Given the description of an element on the screen output the (x, y) to click on. 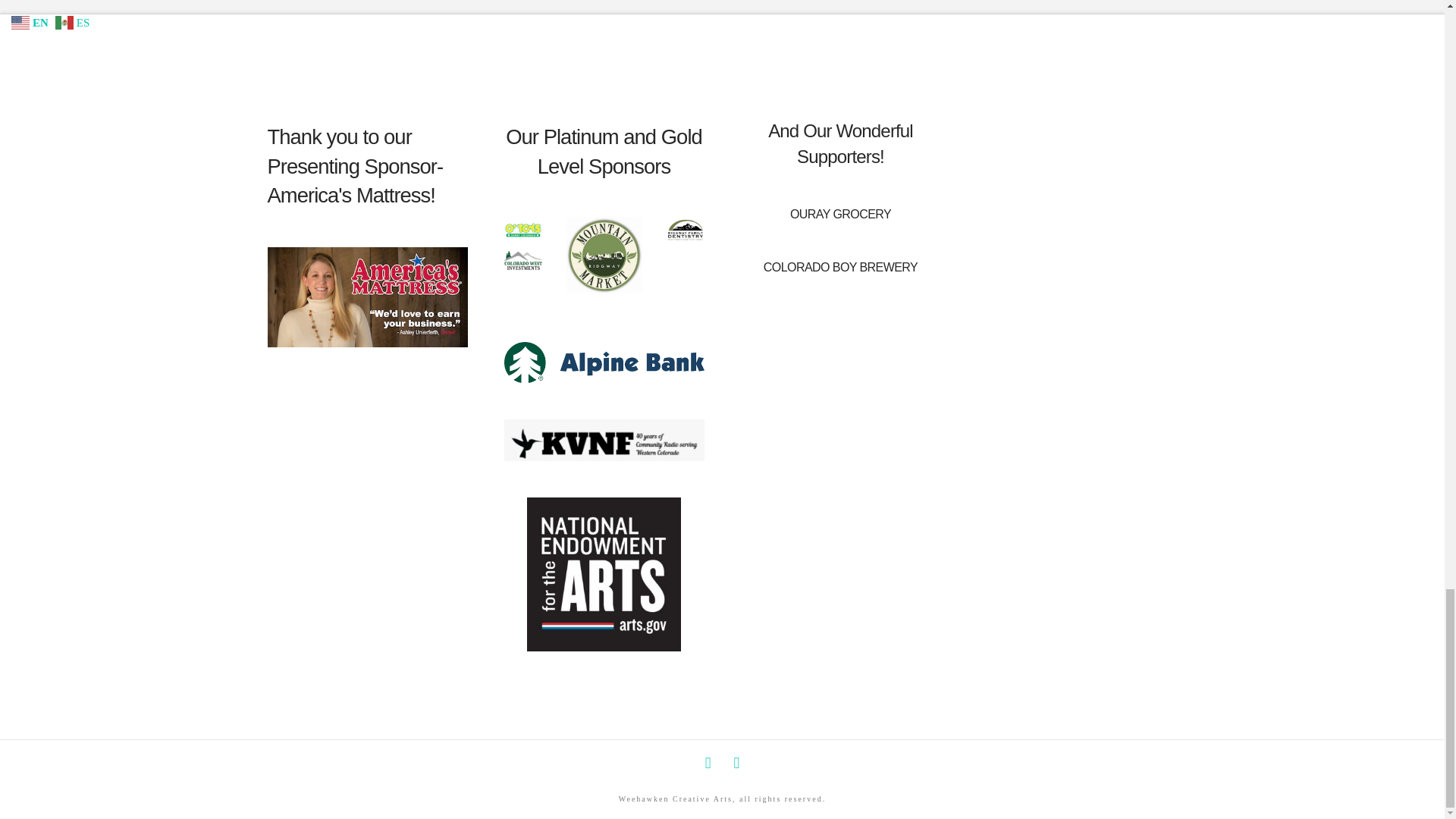
Facebook (707, 763)
Instagram (736, 763)
